Given the description of an element on the screen output the (x, y) to click on. 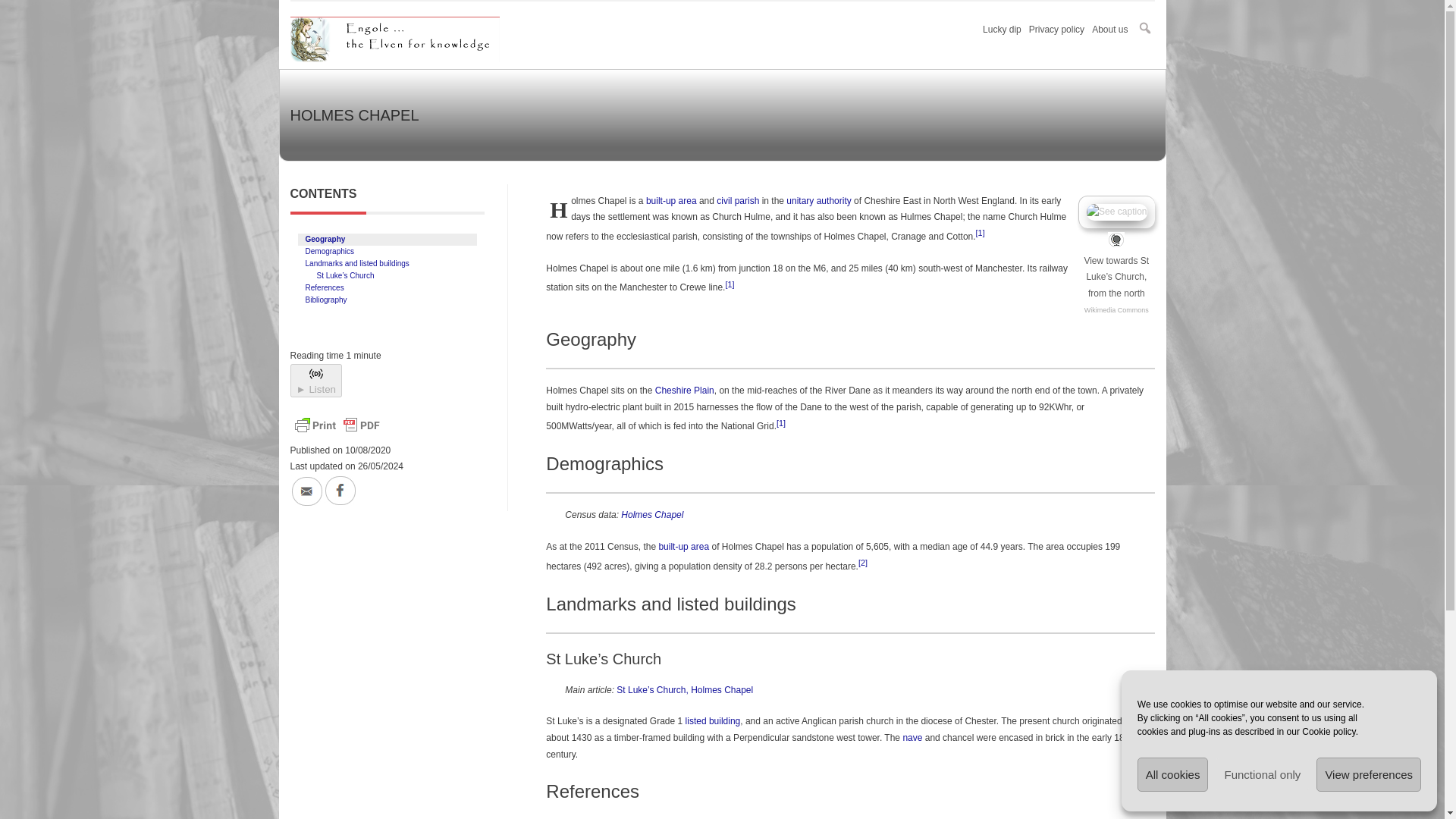
All cookies (1172, 774)
built-up area (683, 546)
Landmarks and listed buildings (354, 263)
listed building (713, 720)
nave (911, 737)
civil parish (737, 200)
Search (18, 17)
Privacy policy (1060, 29)
Google map (1116, 239)
View preferences (1368, 774)
Cookie policy (1328, 731)
Geography (322, 239)
built-up area (671, 200)
Demographics (326, 251)
Cheshire Plain (684, 389)
